Given the description of an element on the screen output the (x, y) to click on. 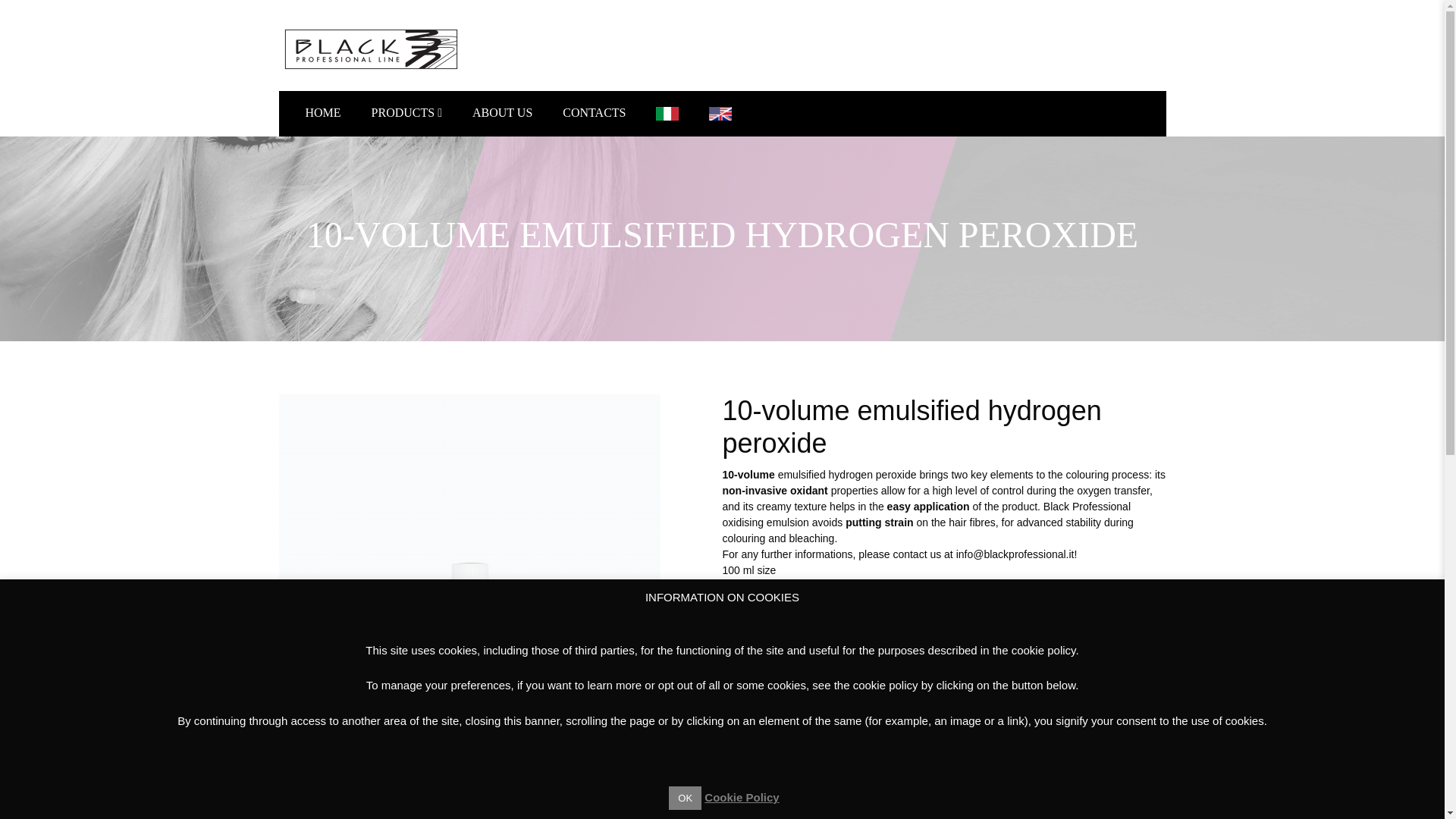
Black Professional - Professional Hair Products (371, 48)
HOME (322, 112)
PRODUCTS (406, 112)
